Given the description of an element on the screen output the (x, y) to click on. 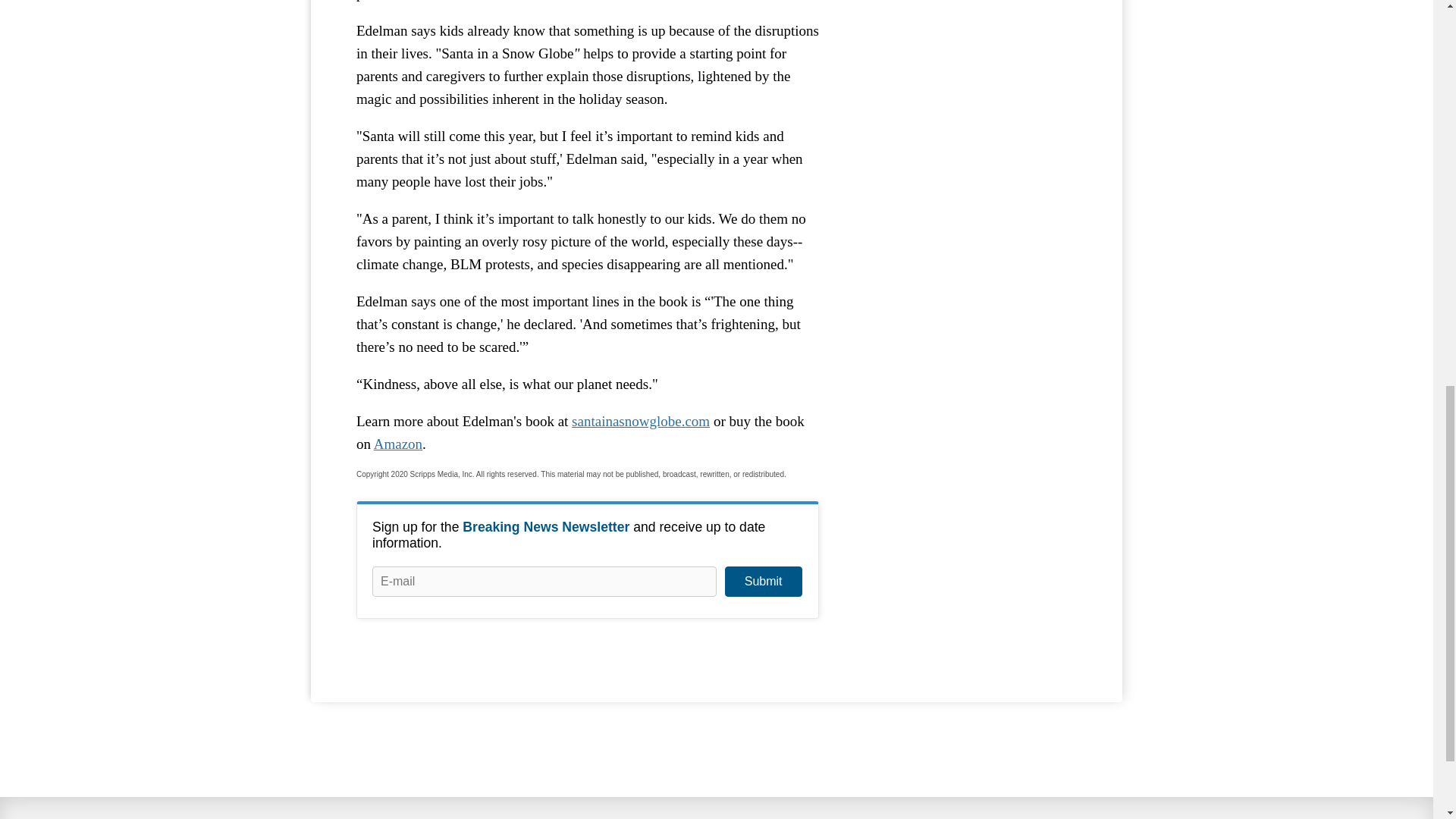
Submit (763, 581)
